Given the description of an element on the screen output the (x, y) to click on. 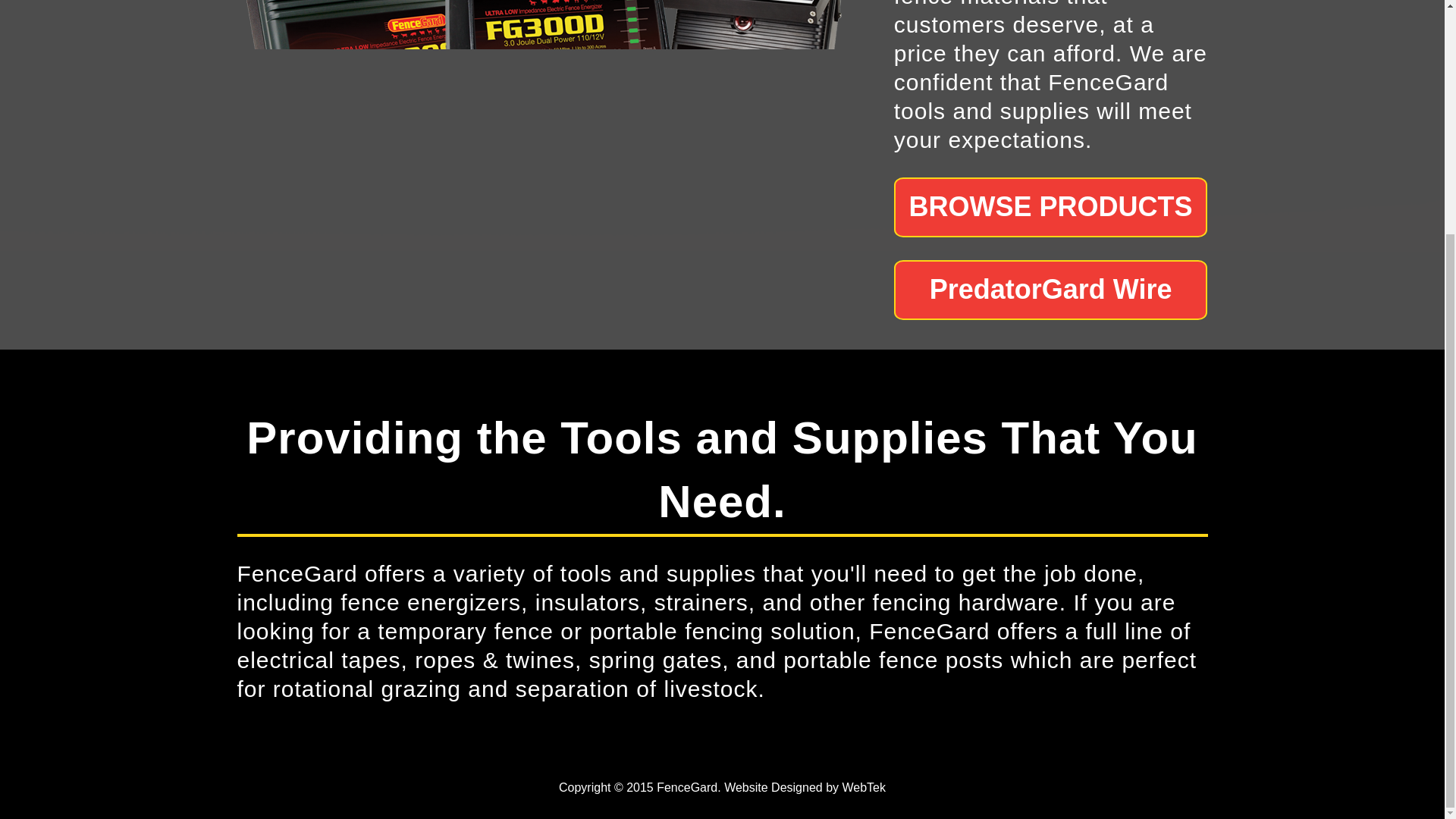
BROWSE PRODUCTS (1050, 207)
Website Designed by WebTek (804, 787)
PredatorGard Wire (1050, 290)
